Given the description of an element on the screen output the (x, y) to click on. 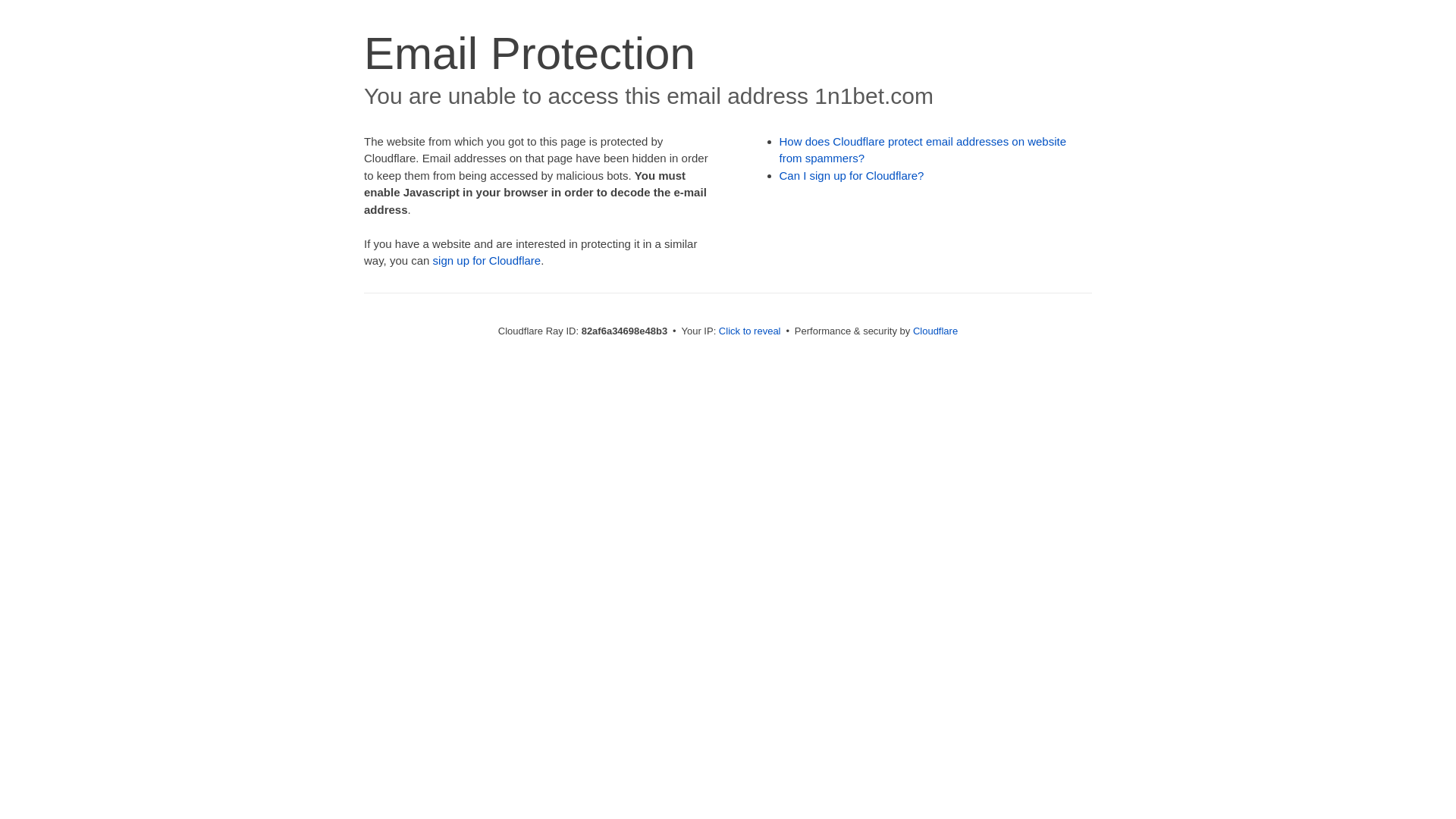
sign up for Cloudflare Element type: text (487, 260)
Click to reveal Element type: text (749, 330)
Cloudflare Element type: text (935, 330)
Can I sign up for Cloudflare? Element type: text (851, 175)
